Given the description of an element on the screen output the (x, y) to click on. 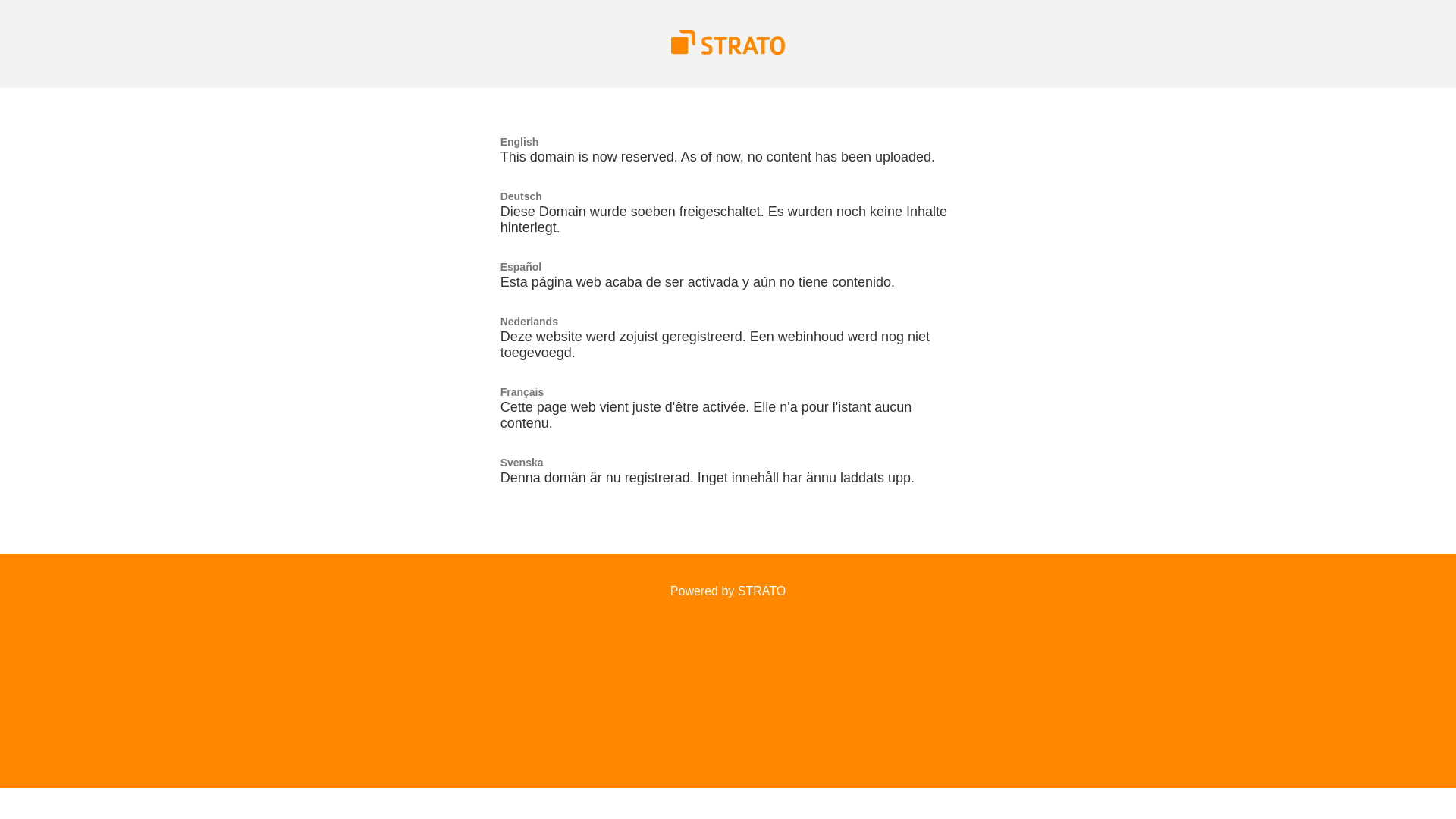
Powered by STRATO Element type: text (727, 590)
